Given the description of an element on the screen output the (x, y) to click on. 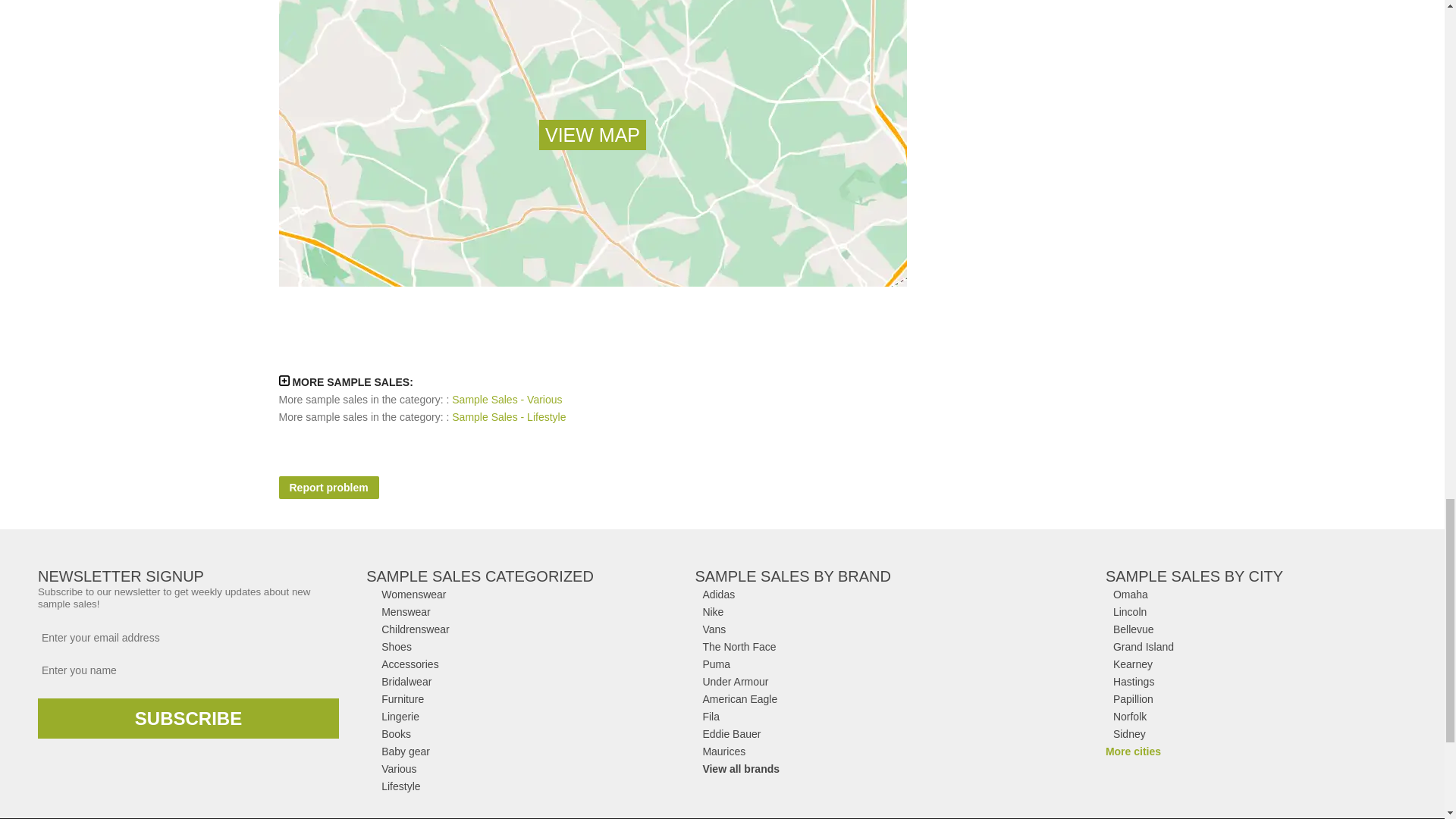
Enter you name (188, 670)
Enter your email address (188, 637)
View Map (592, 134)
